Given the description of an element on the screen output the (x, y) to click on. 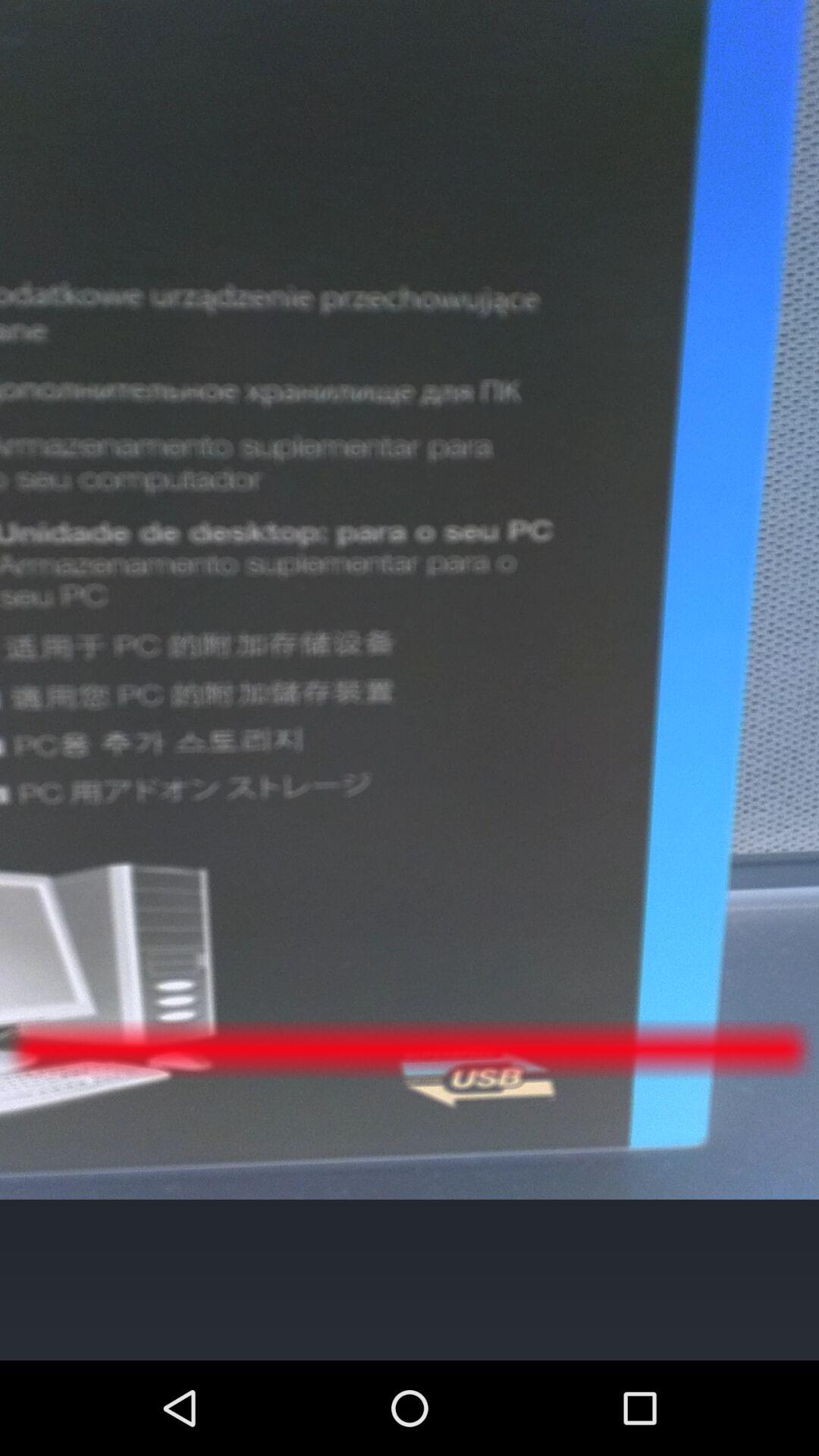
open the item at the bottom (408, 1279)
